Given the description of an element on the screen output the (x, y) to click on. 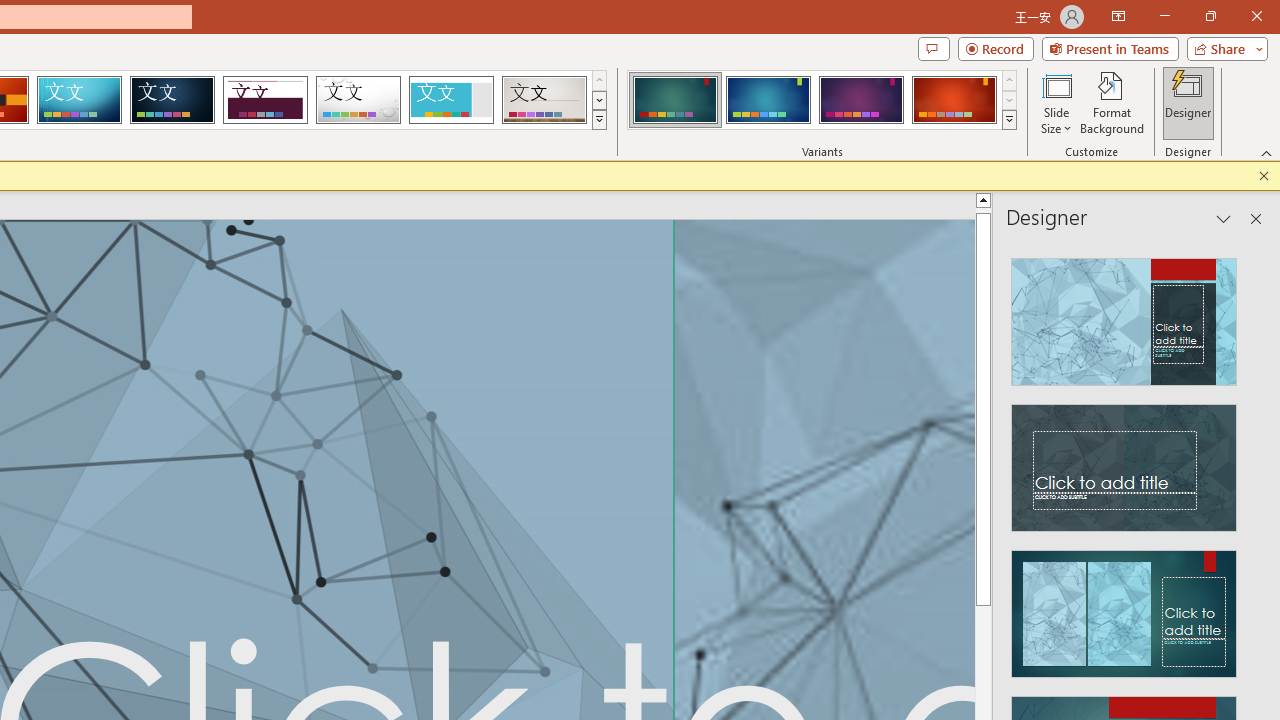
Gallery (544, 100)
Task Pane Options (1224, 219)
Frame (450, 100)
Row Down (1009, 100)
Ion Variant 1 (674, 100)
Dividend (265, 100)
Share (1223, 48)
Format Background (1111, 102)
Ion Variant 4 (953, 100)
Ribbon Display Options (1118, 16)
Ion Variant 3 (861, 100)
Circuit (79, 100)
Damask (171, 100)
